Given the description of an element on the screen output the (x, y) to click on. 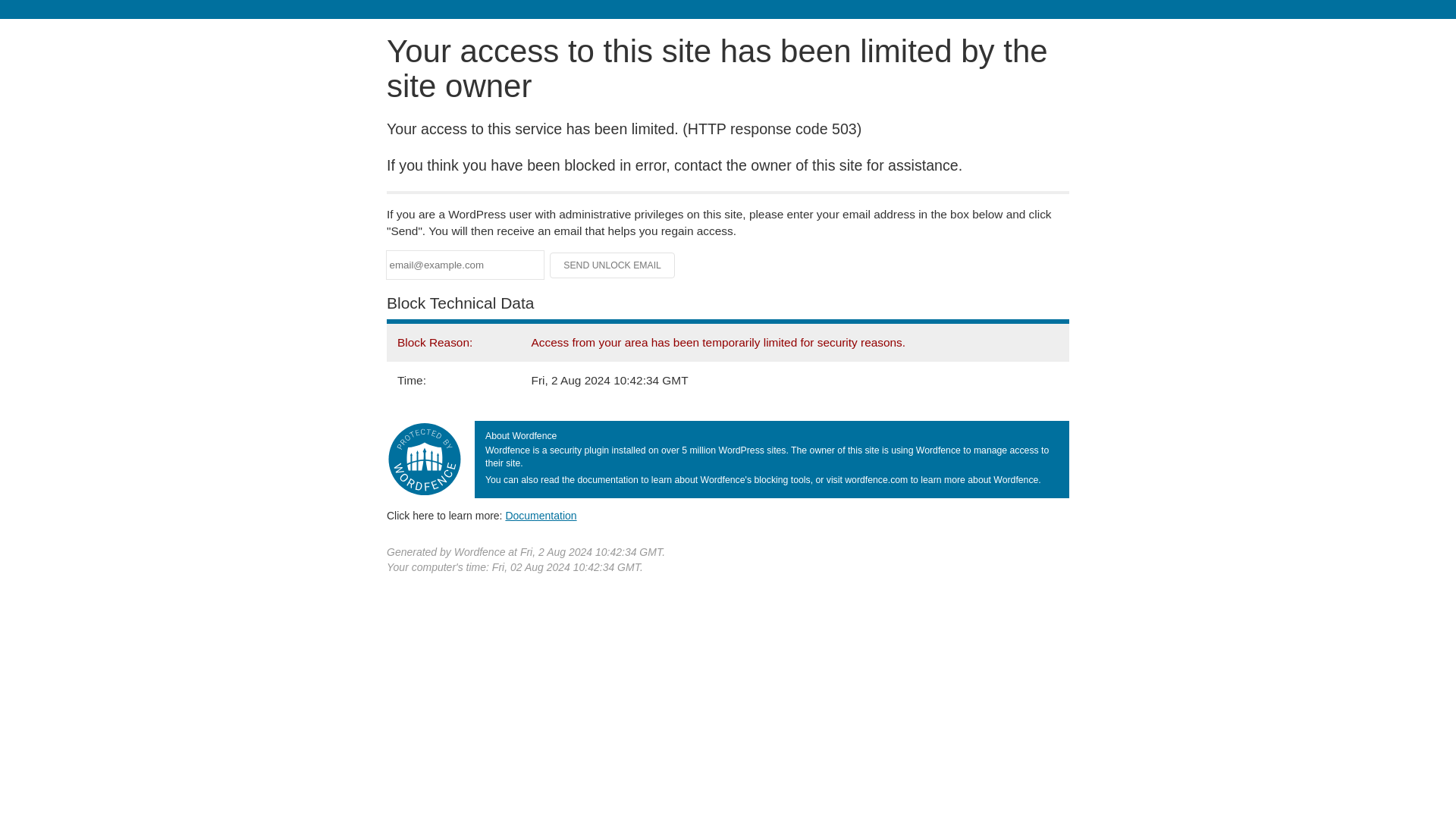
Send Unlock Email (612, 265)
Send Unlock Email (612, 265)
Documentation (540, 515)
